Given the description of an element on the screen output the (x, y) to click on. 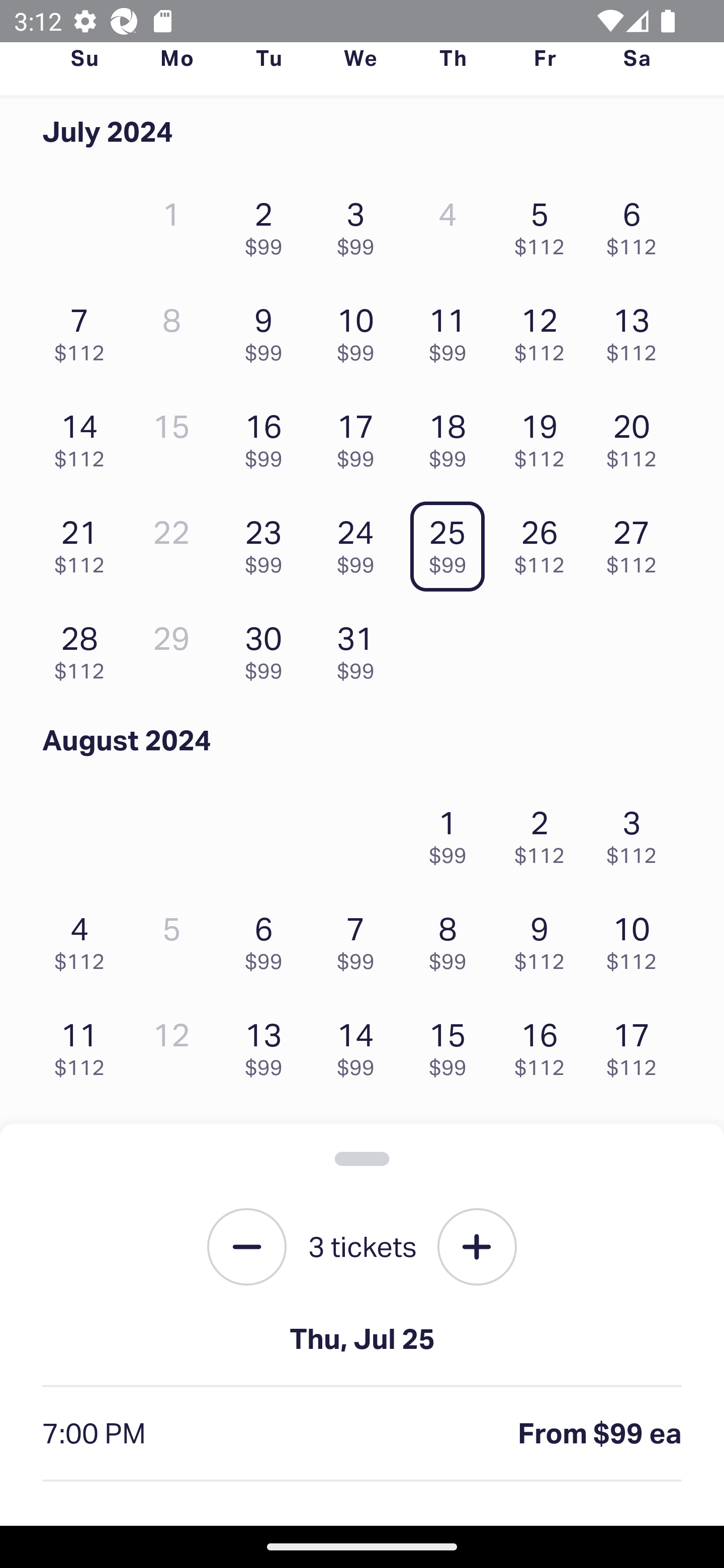
2 $99 (268, 223)
3 $99 (360, 223)
5 $112 (544, 223)
6 $112 (636, 223)
7 $112 (84, 329)
9 $99 (268, 329)
10 $99 (360, 329)
11 $99 (452, 329)
12 $112 (544, 329)
13 $112 (636, 329)
14 $112 (84, 435)
16 $99 (268, 435)
17 $99 (360, 435)
18 $99 (452, 435)
19 $112 (544, 435)
20 $112 (636, 435)
21 $112 (84, 541)
23 $99 (268, 541)
24 $99 (360, 541)
25 $99 (452, 541)
26 $112 (544, 541)
27 $112 (636, 541)
28 $112 (84, 647)
30 $99 (268, 647)
31 $99 (360, 647)
1 $99 (452, 831)
2 $112 (544, 831)
3 $112 (636, 831)
4 $112 (84, 938)
6 $99 (268, 938)
7 $99 (360, 938)
8 $99 (452, 938)
9 $112 (544, 938)
10 $112 (636, 938)
11 $112 (84, 1044)
13 $99 (268, 1044)
14 $99 (360, 1044)
15 $99 (452, 1044)
16 $112 (544, 1044)
17 $112 (636, 1044)
21 $99 (360, 1149)
7:00 PM From $99 ea (361, 1434)
